Given the description of an element on the screen output the (x, y) to click on. 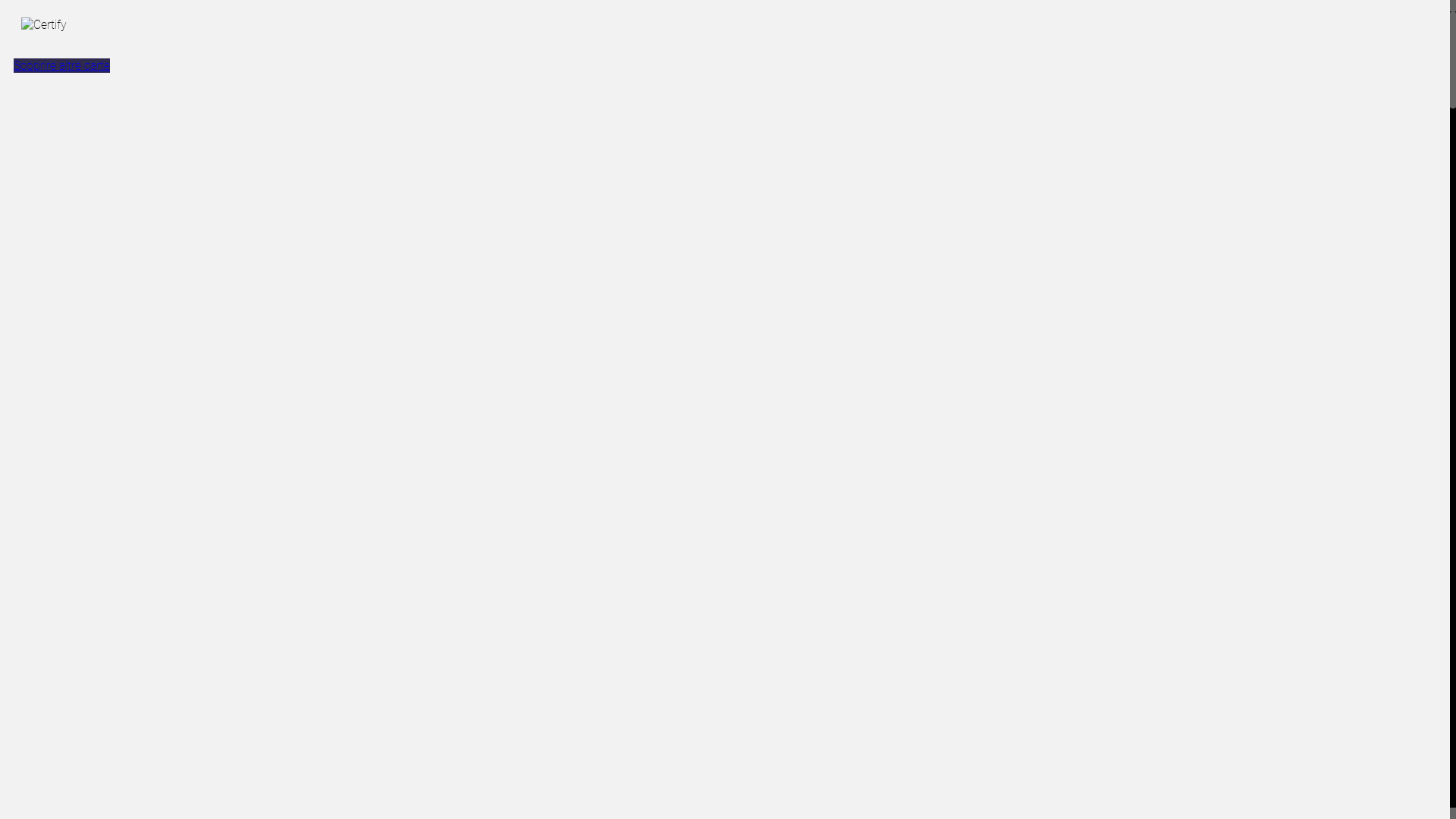
Certify Element type: hover (42, 28)
Scoprire altre carte Element type: text (61, 65)
